Given the description of an element on the screen output the (x, y) to click on. 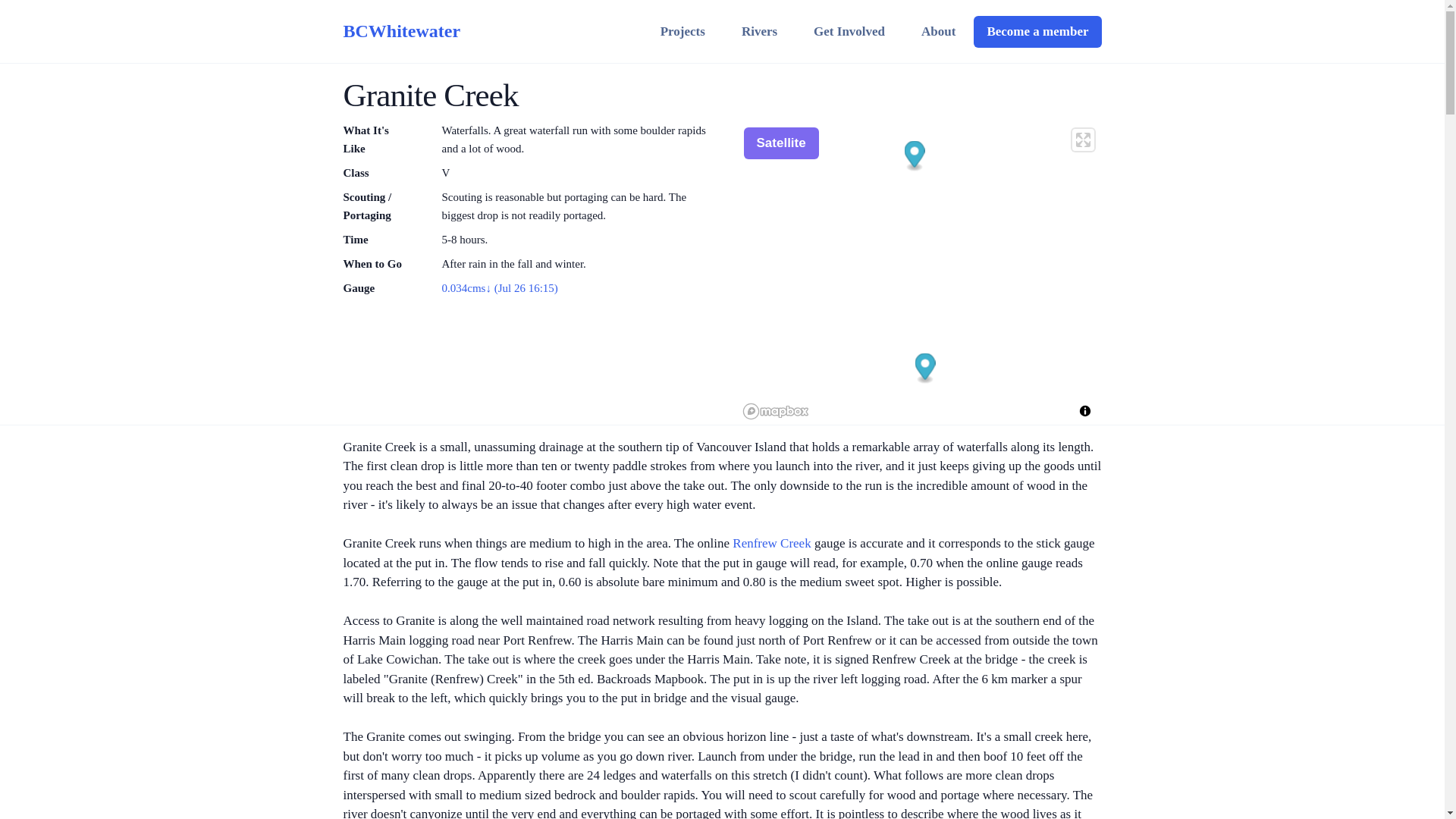
About (938, 31)
Get Involved (848, 31)
Become a member (1037, 31)
Projects (682, 31)
Rivers (758, 31)
Enter fullscreen (1082, 139)
Renfrew Creek (771, 543)
Toggle attribution (1084, 411)
BCWhitewater (401, 31)
